Given the description of an element on the screen output the (x, y) to click on. 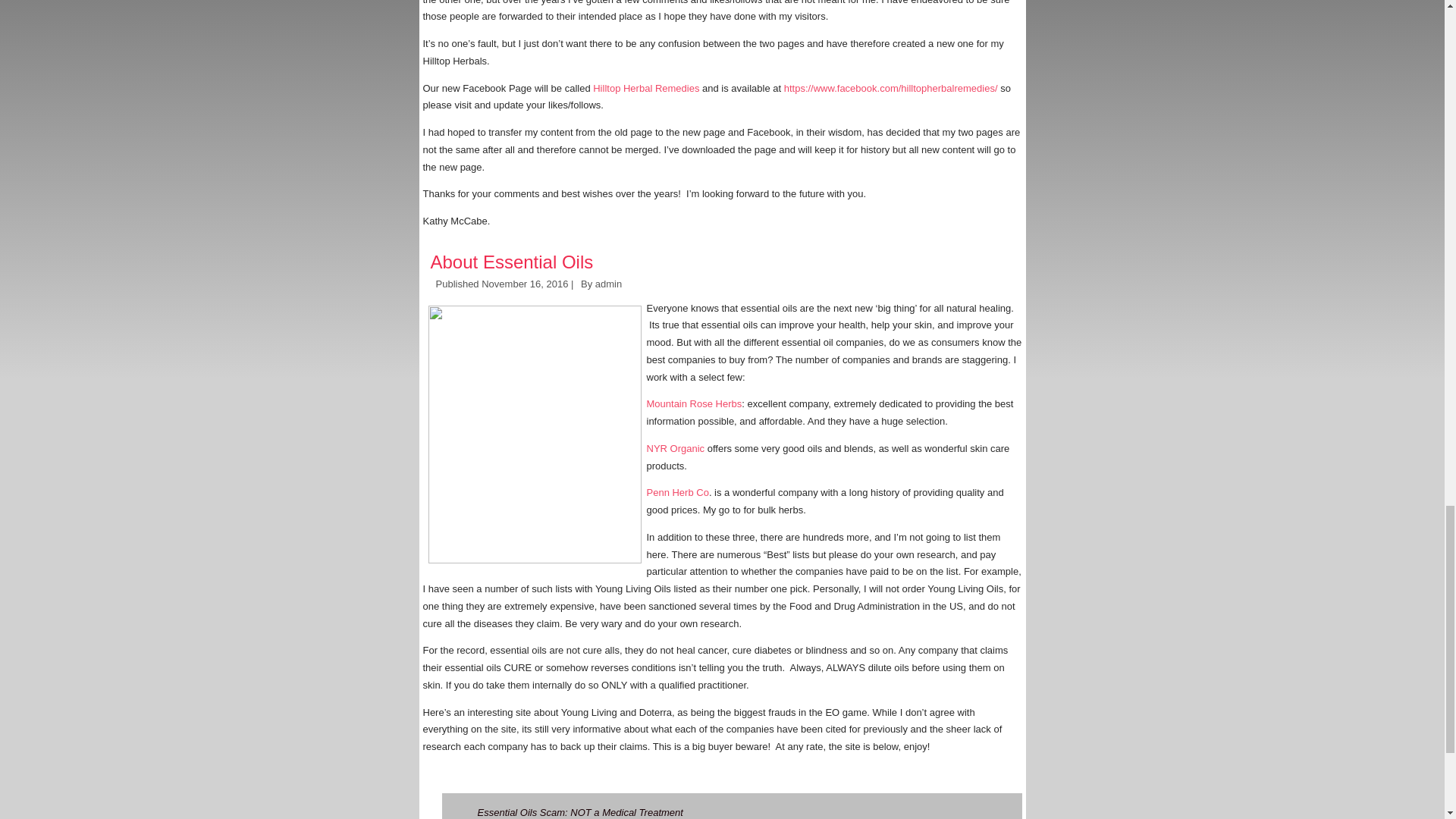
About Essential Oils (512, 261)
admin (608, 283)
NYR Organic (675, 448)
Essential Oils Scam: NOT a Medical Treatment (579, 812)
Penn Herb Co (676, 491)
Hilltop Herbal Remedies (645, 88)
Mountain Rose Herbs (693, 403)
